Given the description of an element on the screen output the (x, y) to click on. 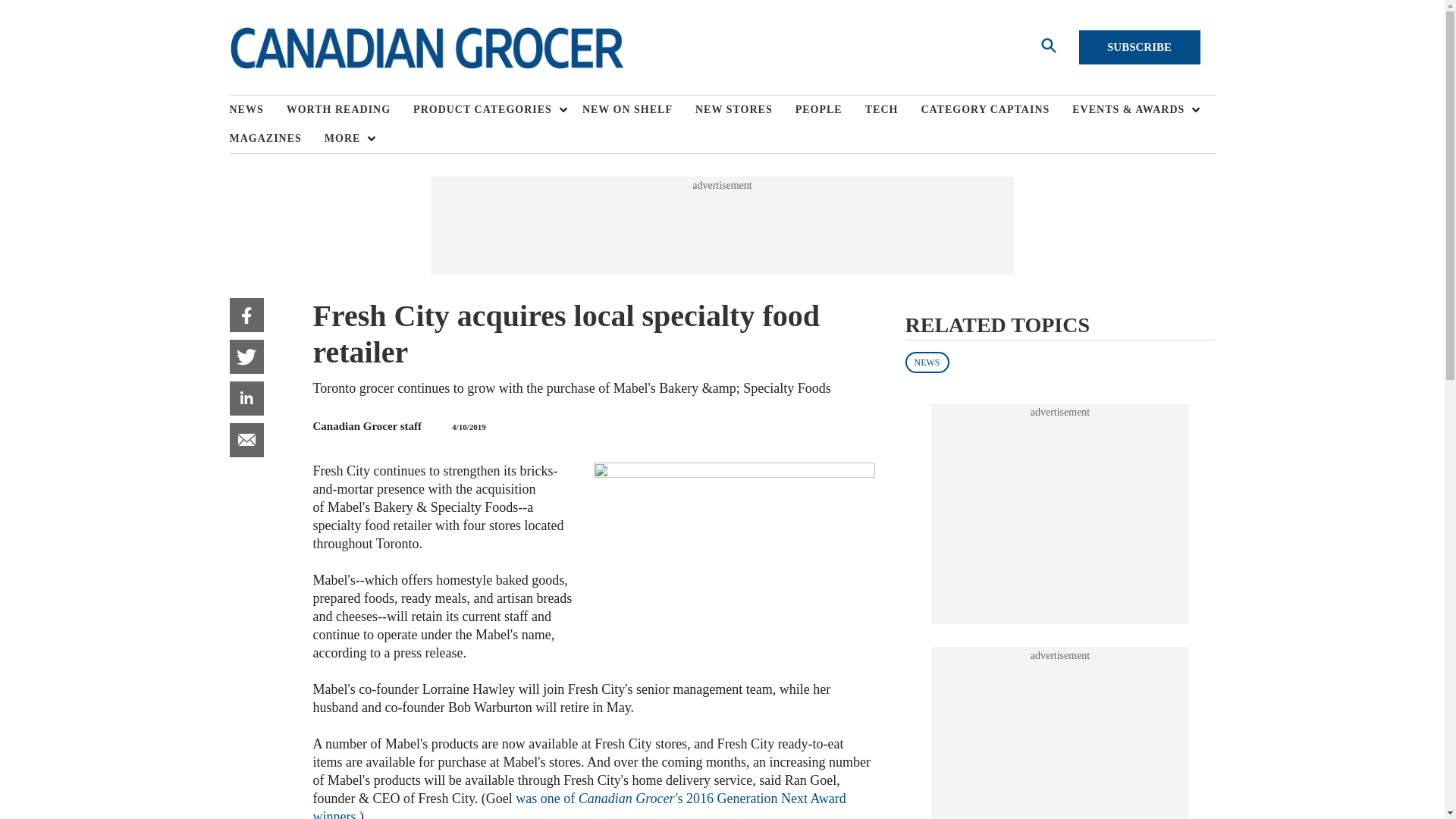
MAGAZINES (275, 138)
PRODUCT CATEGORIES (486, 109)
NEW STORES (744, 109)
NEWS (256, 109)
linkedIn (245, 398)
linkedIn (245, 398)
facebook (245, 315)
email (245, 440)
PEOPLE (829, 109)
twitter (245, 356)
email (245, 440)
twitter (245, 356)
MORE (346, 138)
WORTH READING (349, 109)
CATEGORY CAPTAINS (995, 109)
